Given the description of an element on the screen output the (x, y) to click on. 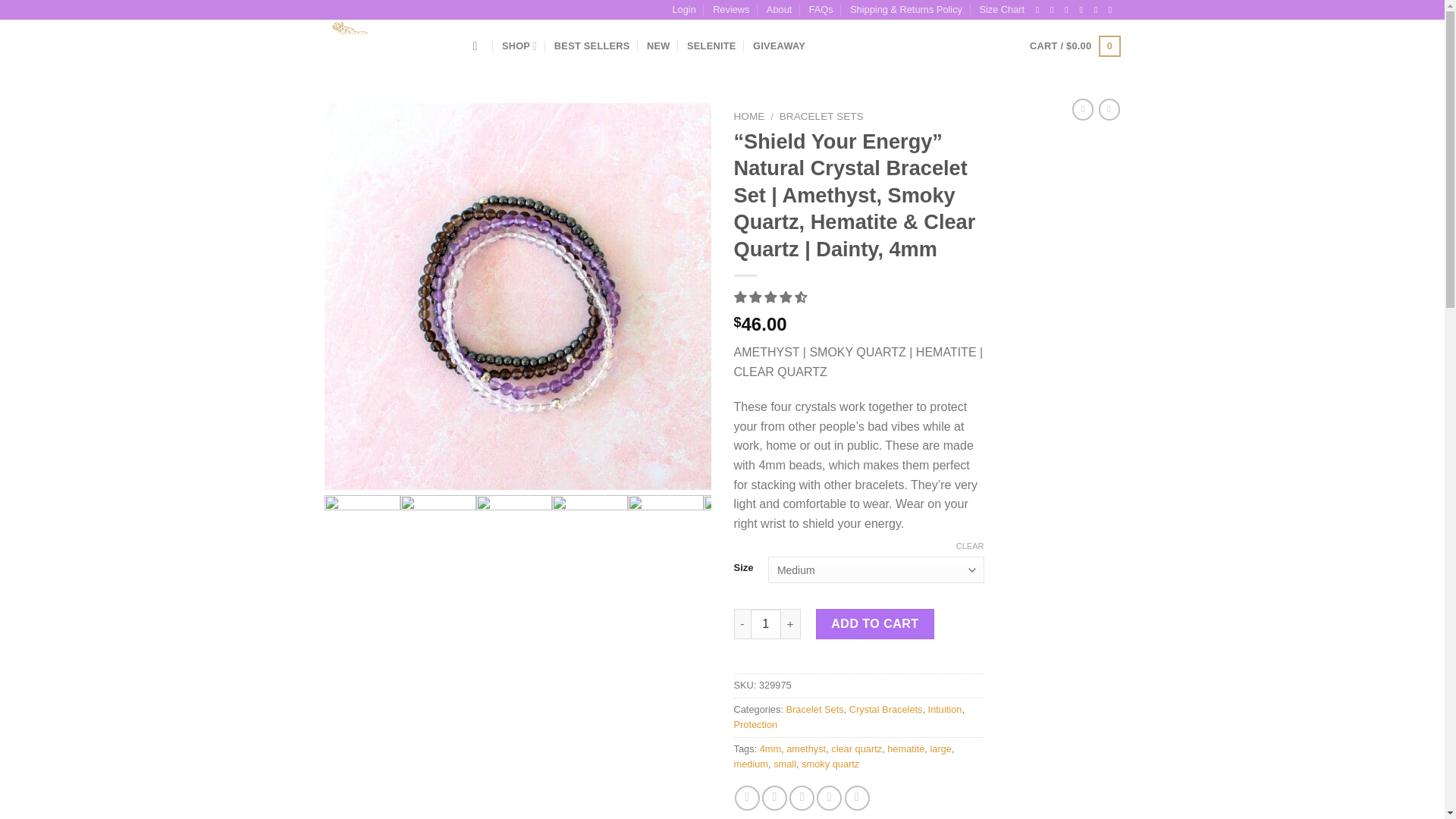
FAQs (820, 9)
Reviews (731, 9)
1 (765, 624)
BRACELET SETS (820, 116)
HOME (749, 116)
BEST SELLERS (592, 45)
Cart (1074, 46)
GIVEAWAY (778, 45)
SELENITE (711, 45)
About (779, 9)
SHOP (519, 45)
Login (683, 9)
Size Chart (1001, 9)
